Given the description of an element on the screen output the (x, y) to click on. 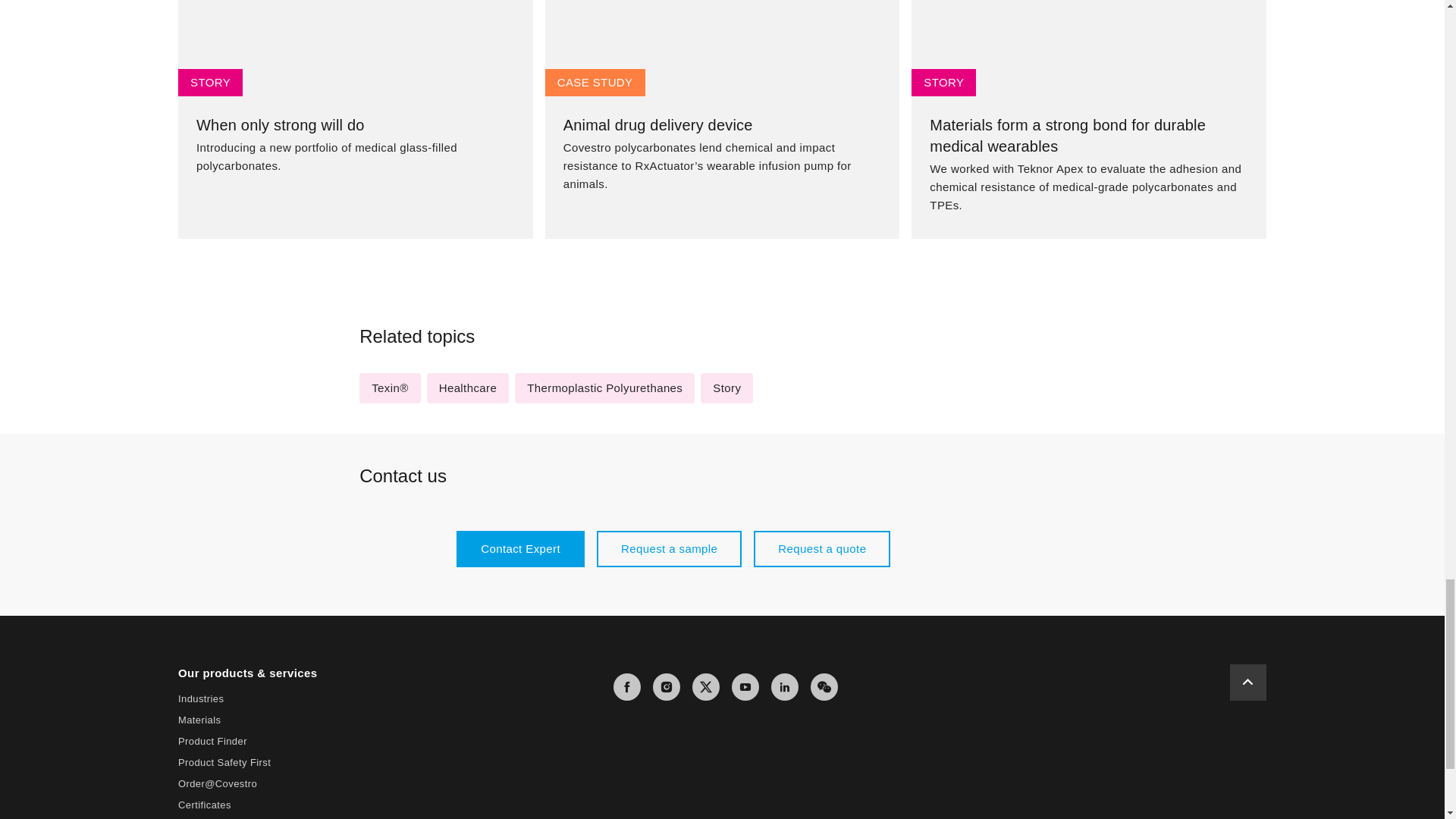
Product Safety First (223, 762)
Materials (199, 719)
Certificates (204, 804)
Product Finder (212, 740)
Industries (200, 698)
